Given the description of an element on the screen output the (x, y) to click on. 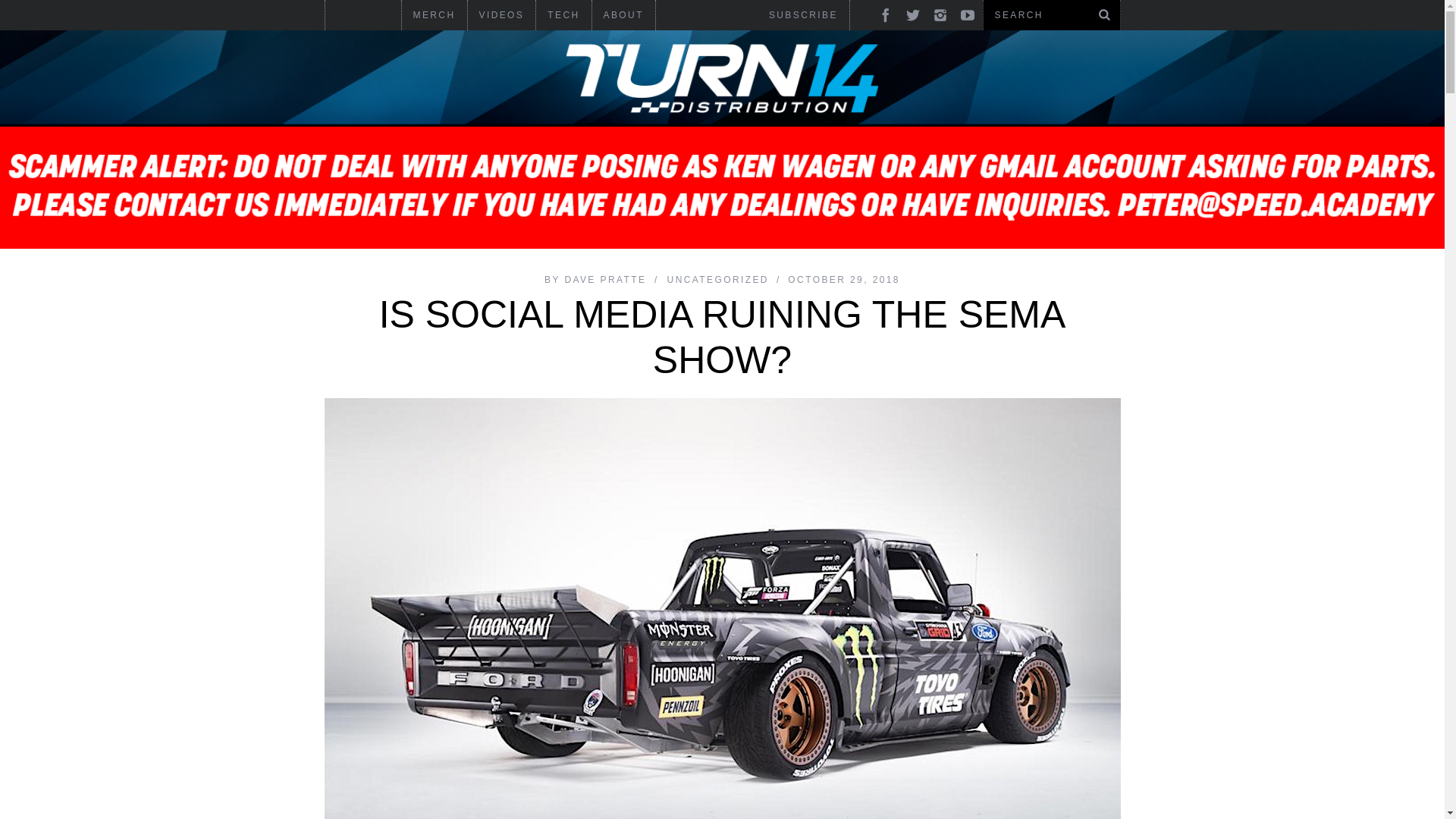
HOME (354, 30)
ABOUT (623, 14)
Search (1040, 15)
VIDEOS (501, 14)
SUBSCRIBE (802, 14)
TECH (563, 14)
MERCH (434, 14)
